Given the description of an element on the screen output the (x, y) to click on. 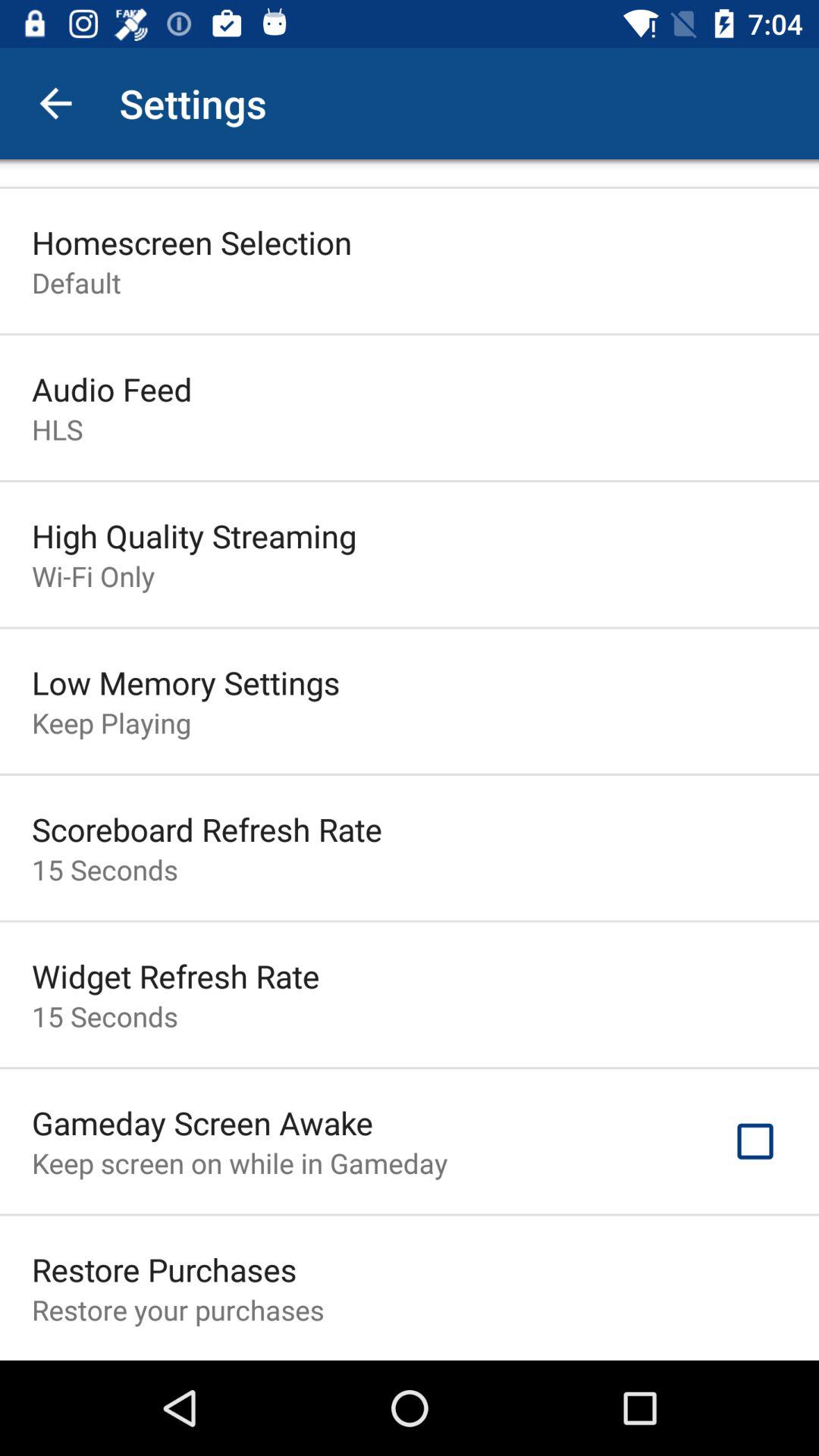
turn on the item above the wi-fi only item (193, 535)
